Given the description of an element on the screen output the (x, y) to click on. 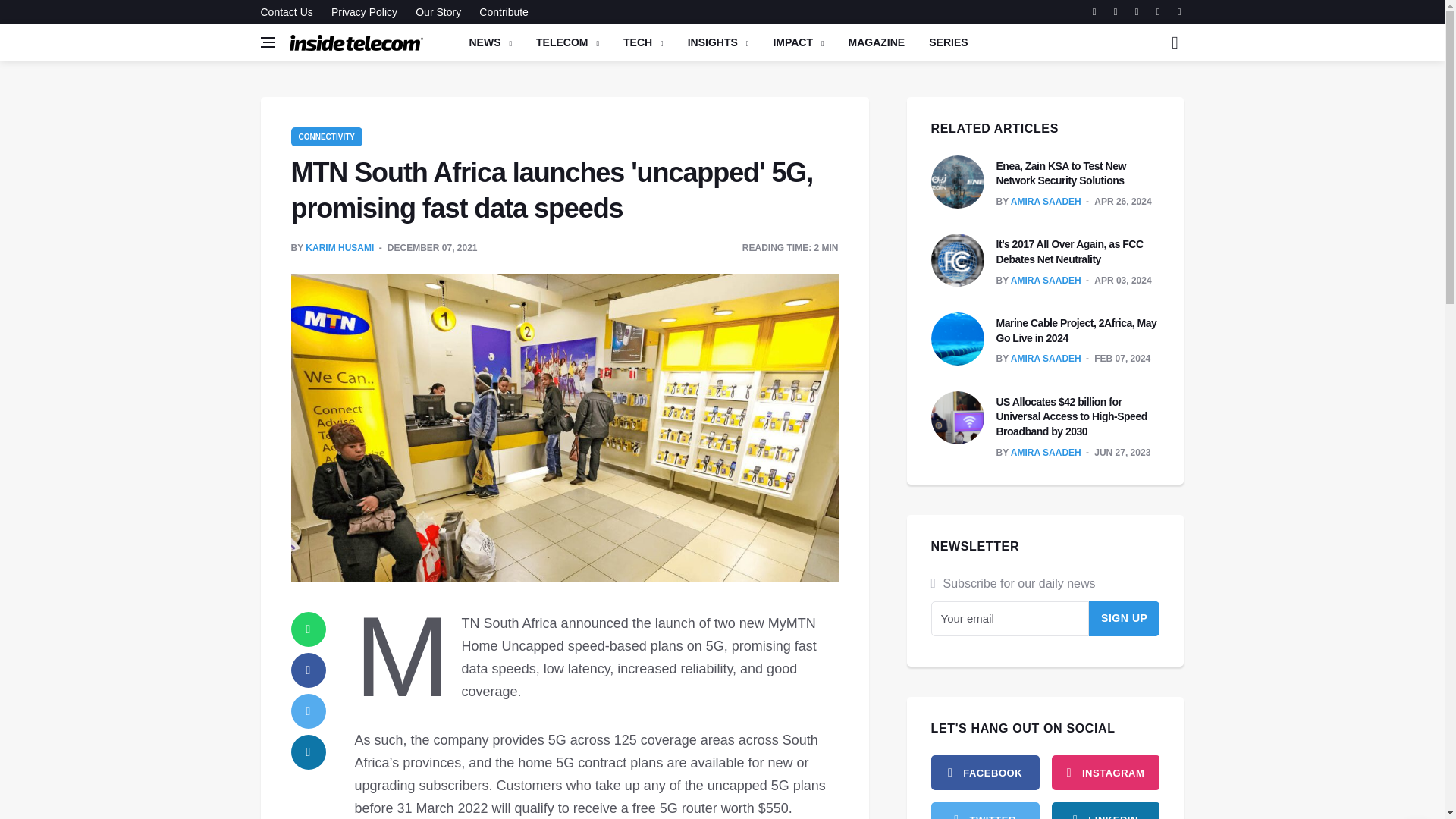
facebook (985, 772)
Privacy Policy (363, 12)
twitter (308, 710)
Sign Up (1124, 618)
Contact Us (290, 12)
facebook (308, 669)
linkedin (308, 751)
Our Story (437, 12)
Contribute (499, 12)
twitter (985, 810)
instagram (1104, 772)
whatsapp (308, 629)
rss (1104, 810)
